Given the description of an element on the screen output the (x, y) to click on. 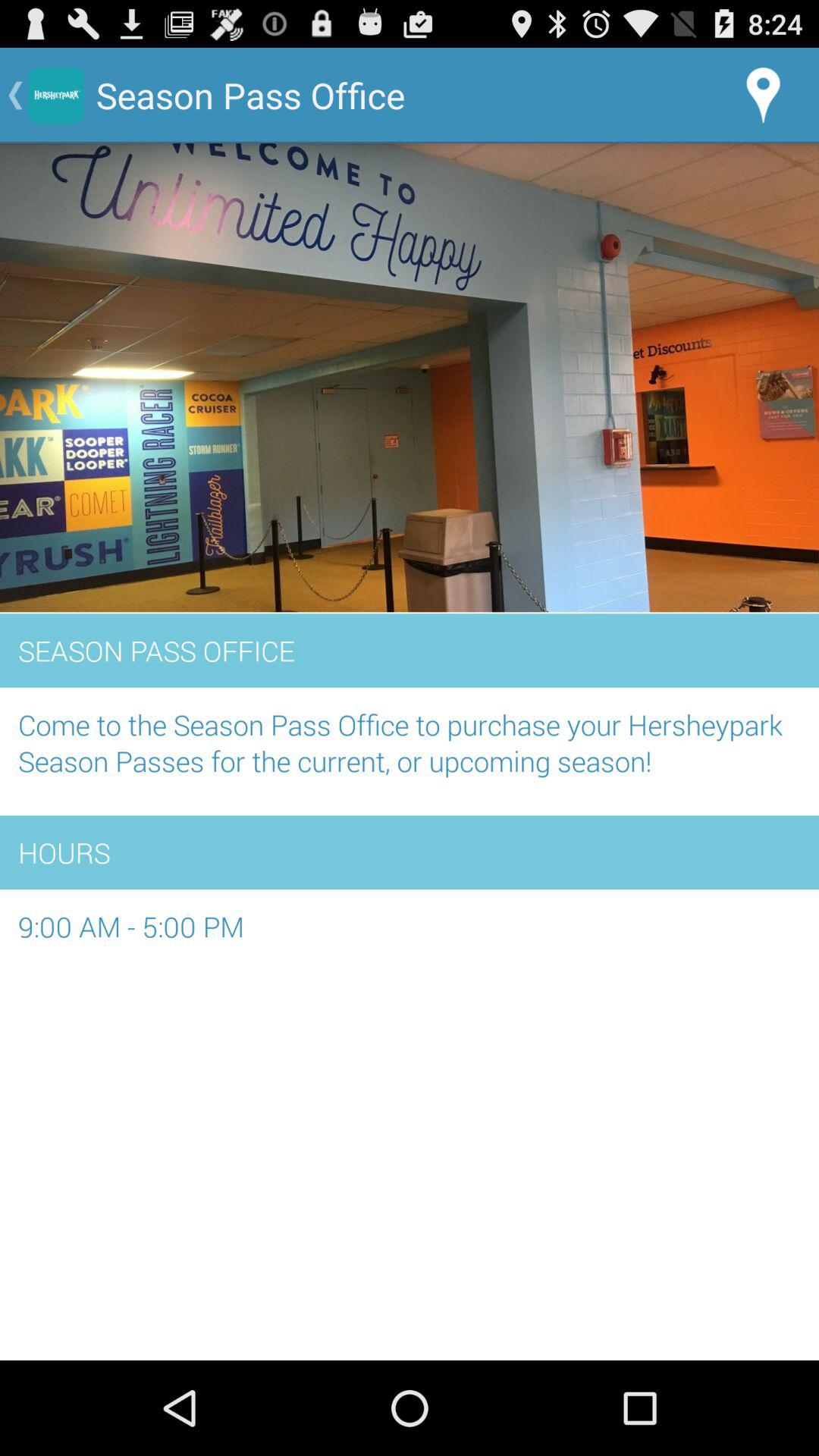
select the item below the hours item (409, 935)
